Given the description of an element on the screen output the (x, y) to click on. 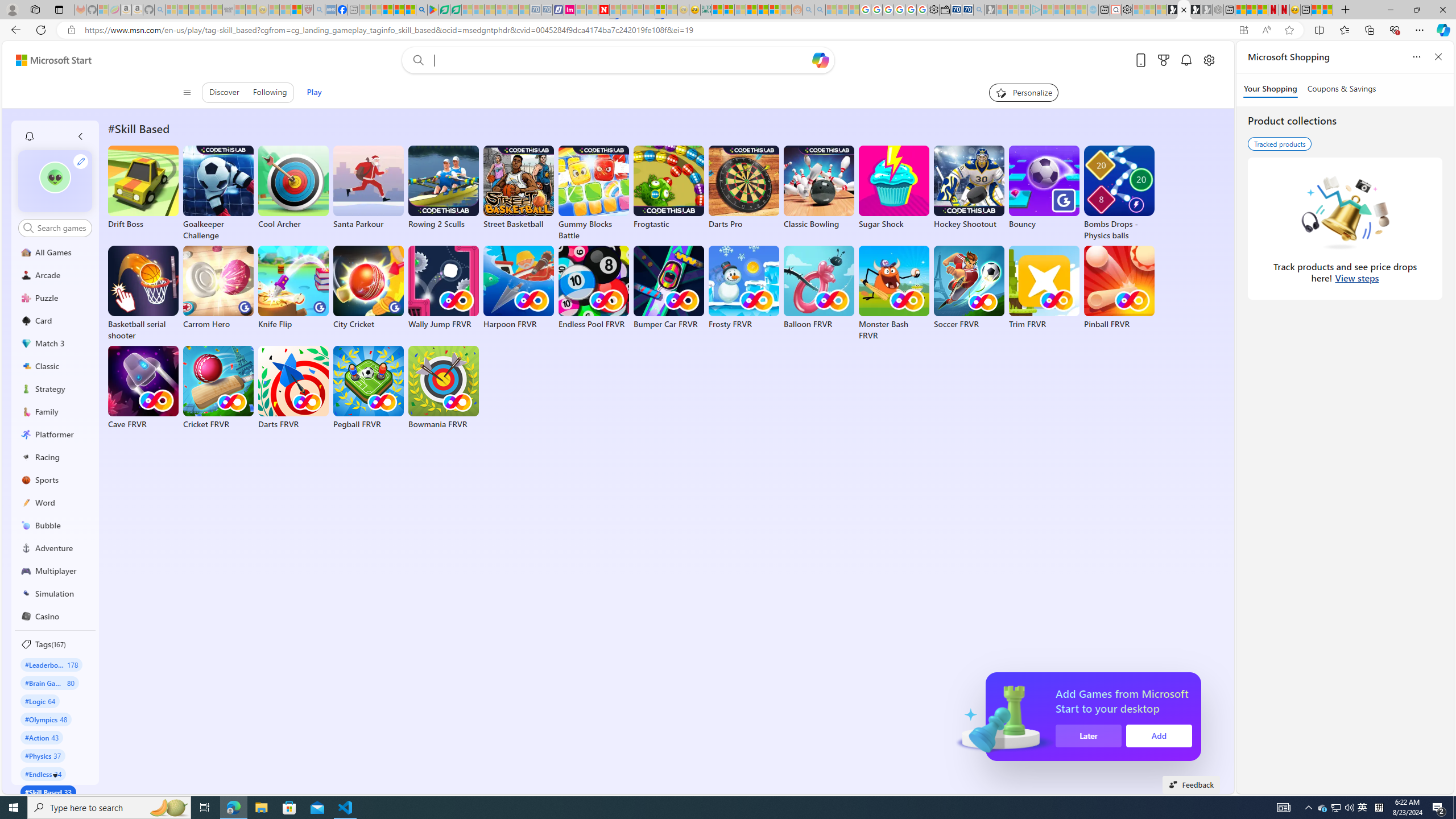
Cool Archer (293, 187)
Street Basketball (518, 187)
Darts Pro (743, 187)
""'s avatar (54, 180)
Wally Jump FRVR (443, 287)
Trim FRVR (1043, 287)
Local - MSN (296, 9)
